Given the description of an element on the screen output the (x, y) to click on. 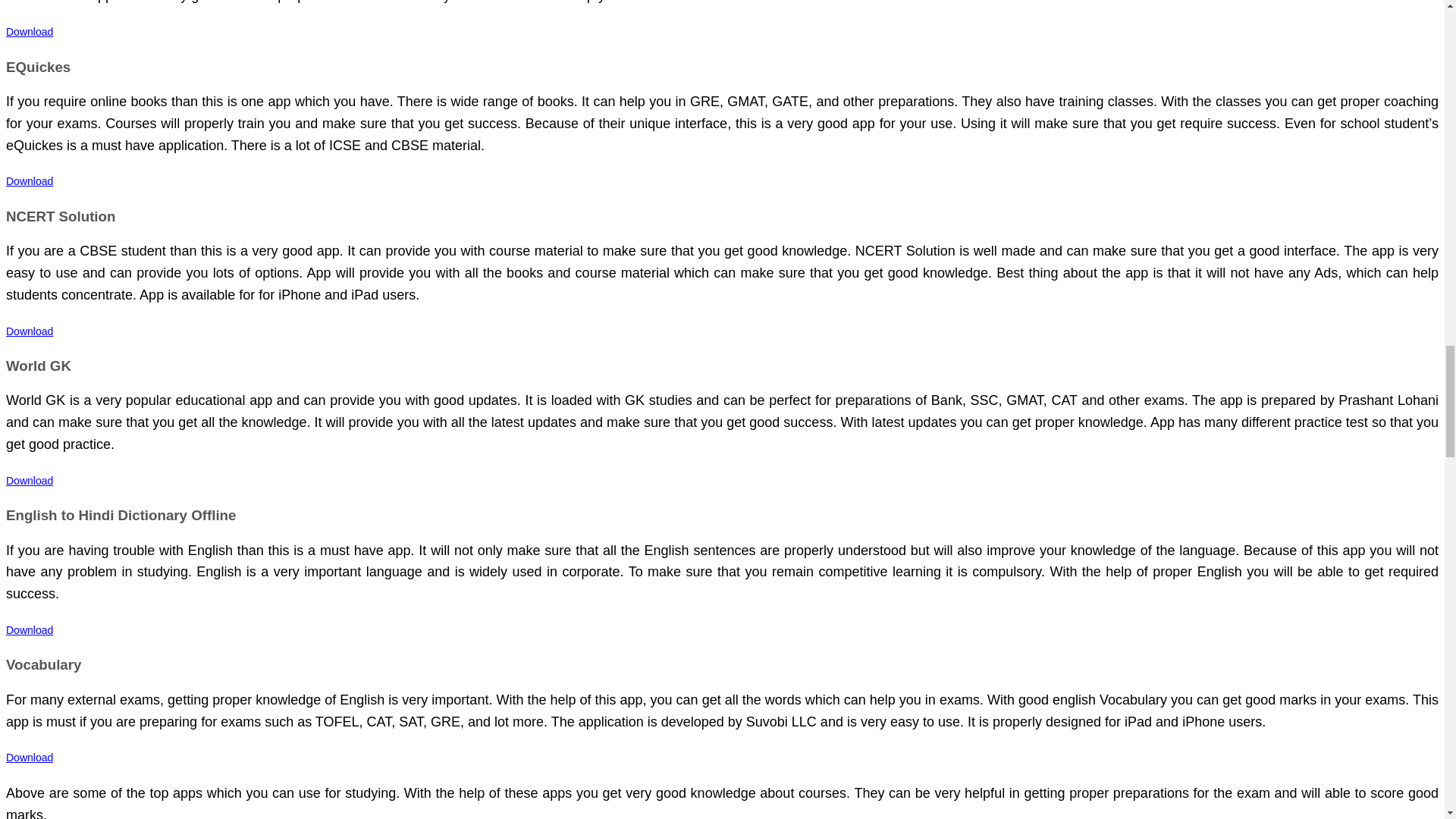
Download (28, 331)
Download (28, 31)
Download (28, 181)
